Given the description of an element on the screen output the (x, y) to click on. 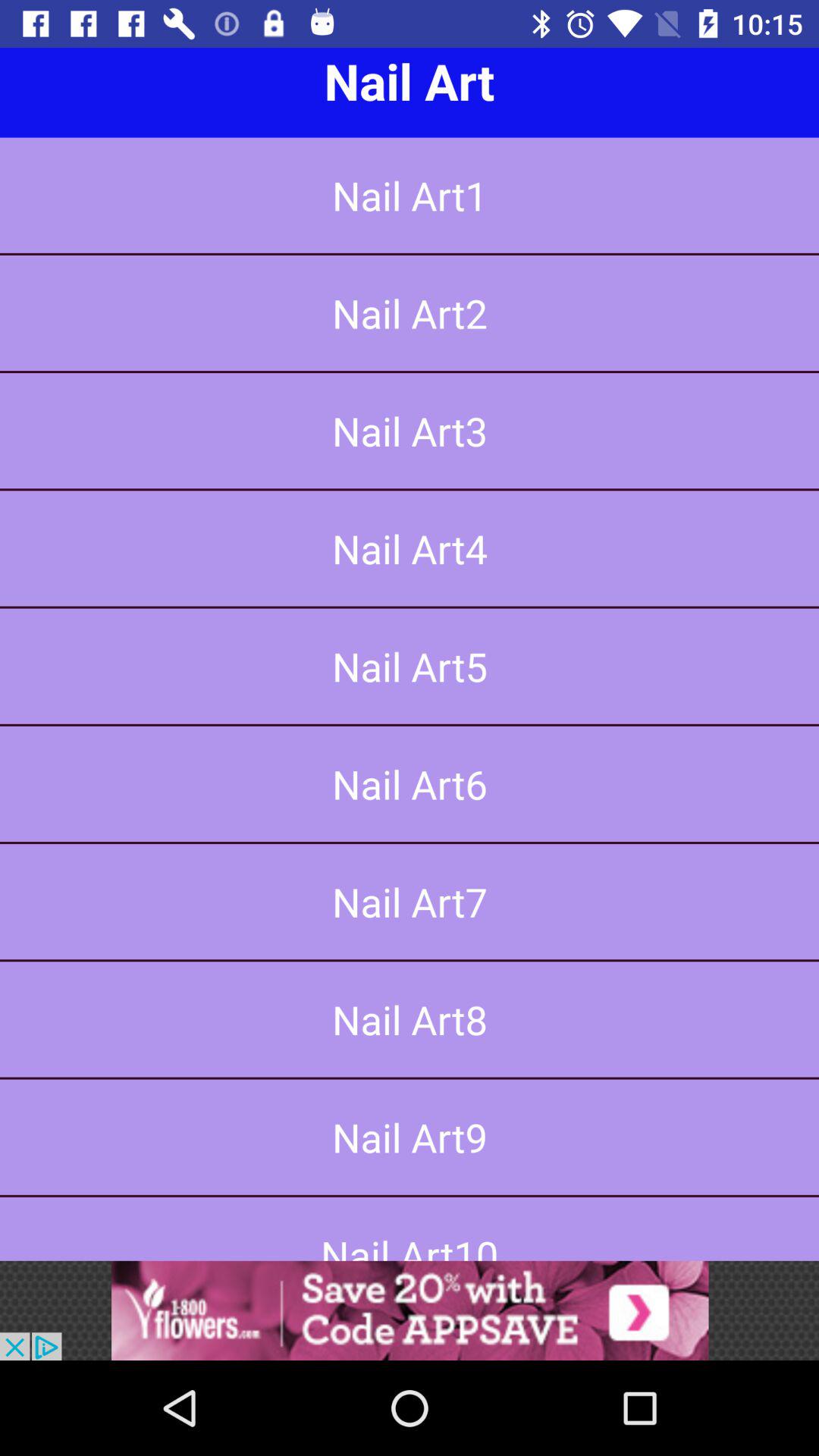
add banner (409, 1310)
